Given the description of an element on the screen output the (x, y) to click on. 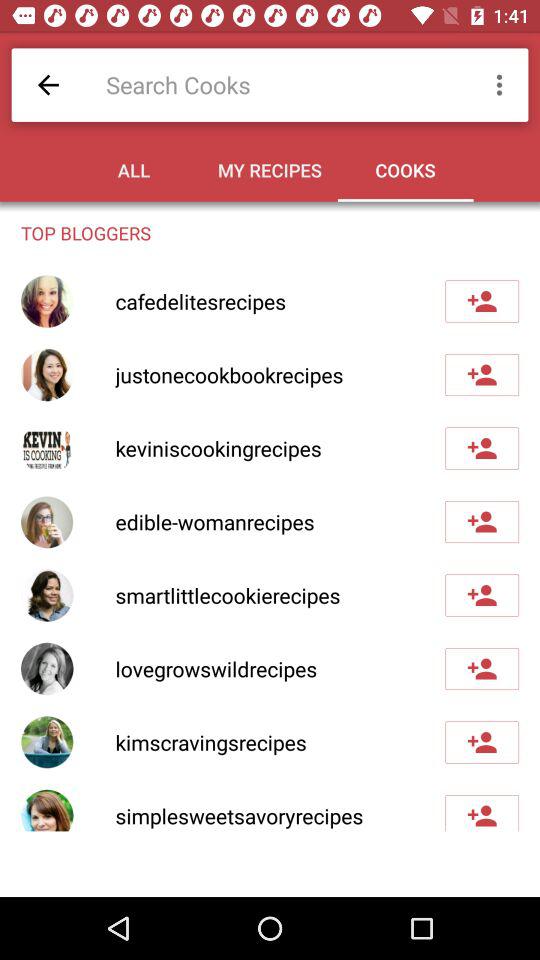
go back (48, 84)
